Given the description of an element on the screen output the (x, y) to click on. 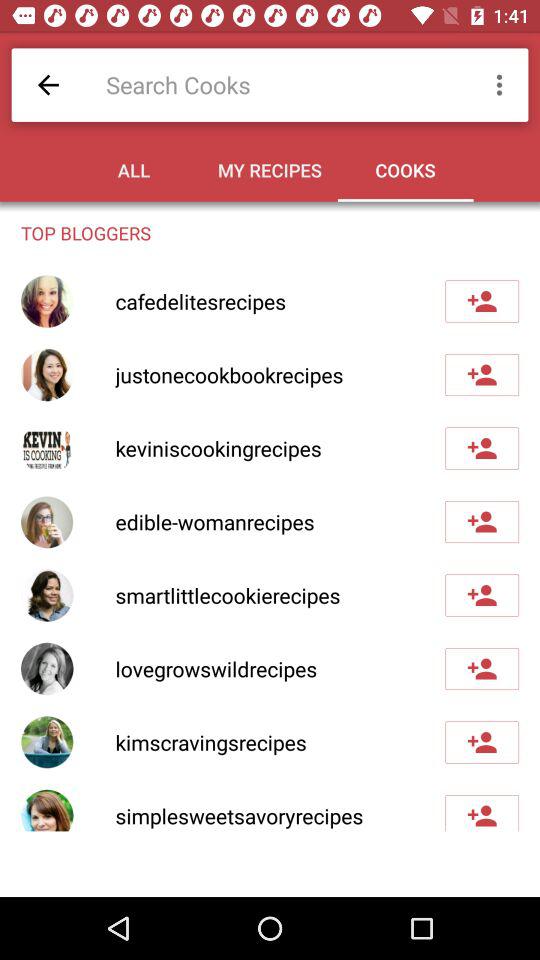
go back (48, 84)
